Given the description of an element on the screen output the (x, y) to click on. 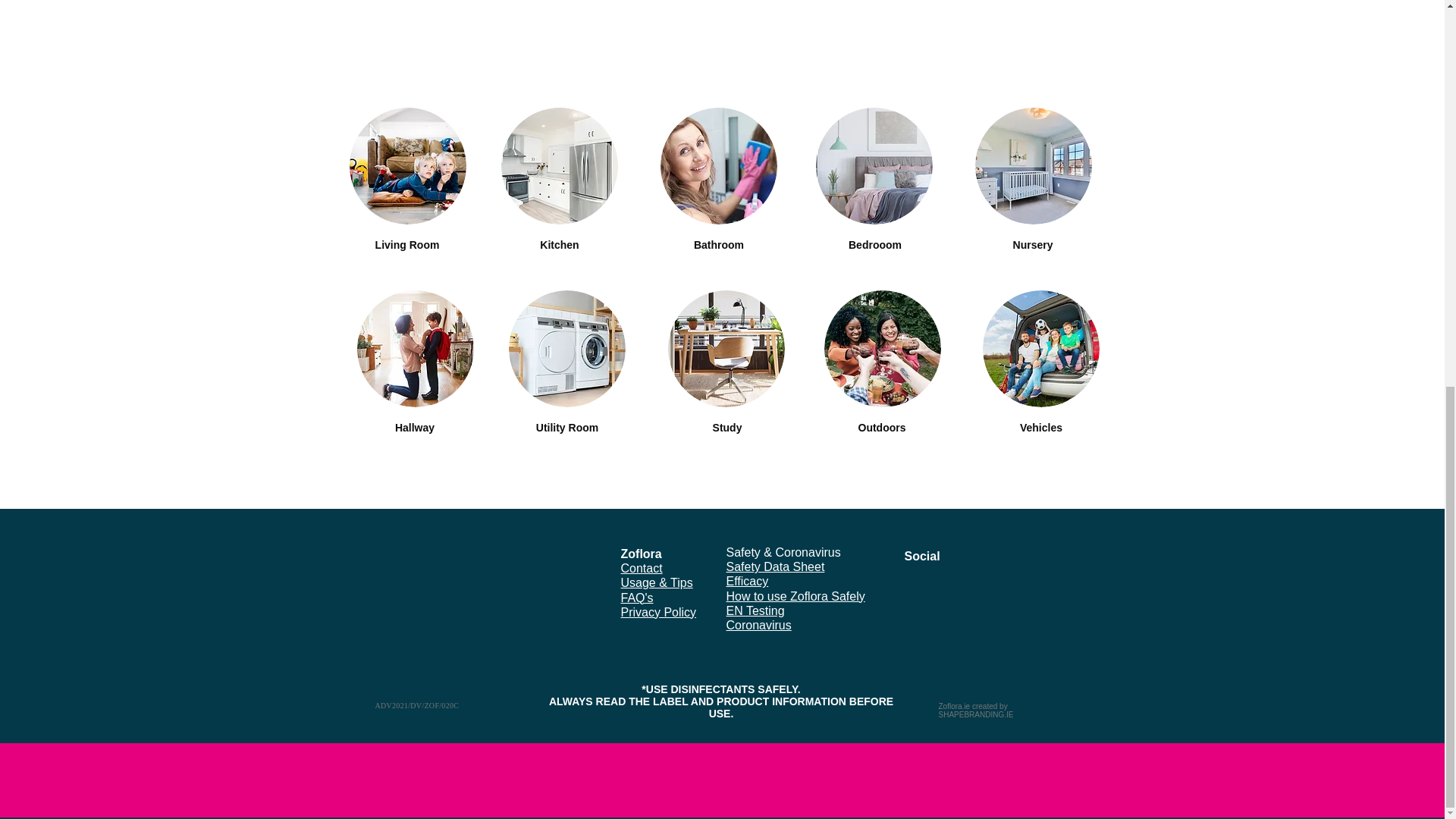
guy2.jpg (414, 348)
Privacy Policy (657, 612)
guy2.jpg (1033, 165)
guy2.jpg (558, 165)
guy2.jpg (407, 165)
guy2.jpg (882, 348)
Living Room (407, 244)
FAQ's (636, 597)
Zoflora.ie created by SHAPEBRANDING.IE  (977, 710)
guy2.jpg (717, 165)
Contact (641, 567)
EN Testing (755, 610)
guy2.jpg (566, 348)
guy2.jpg (1040, 348)
How to use Zoflora Safely (795, 595)
